Given the description of an element on the screen output the (x, y) to click on. 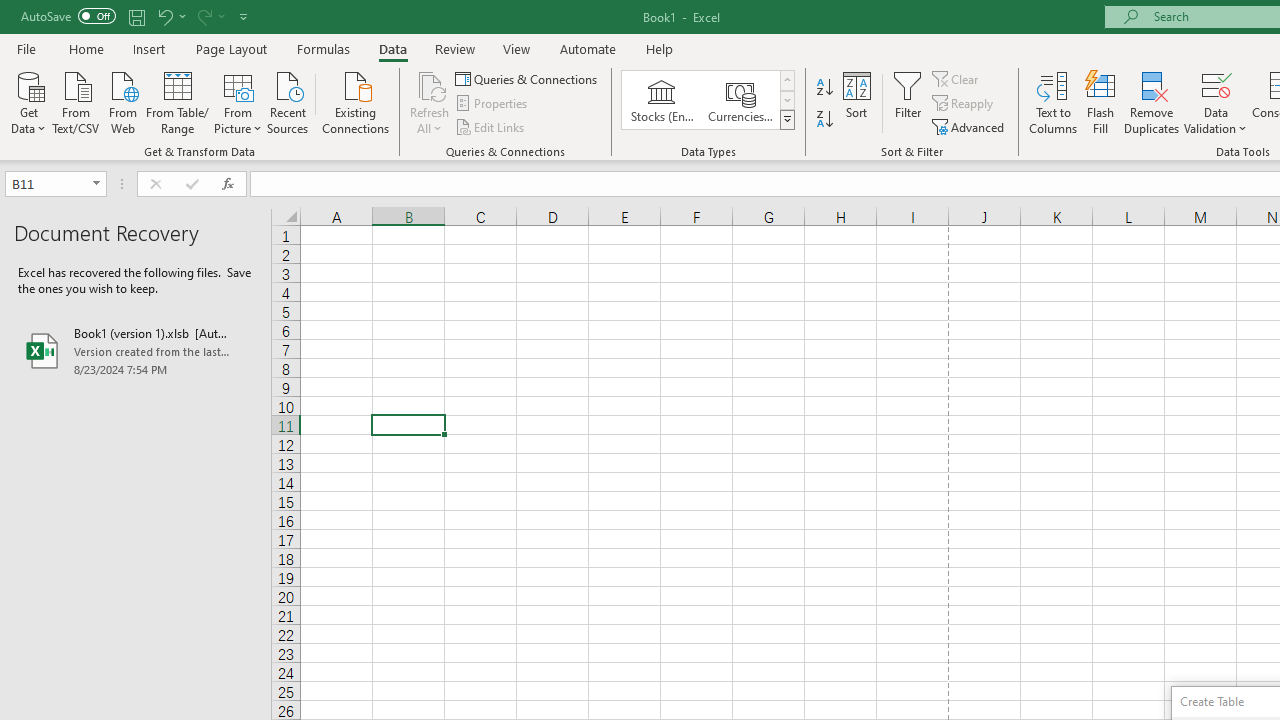
Existing Connections (355, 101)
AutomationID: ConvertToLinkedEntity (708, 99)
Text to Columns... (1053, 102)
Sort... (856, 102)
Data Types (786, 120)
Currencies (English) (740, 100)
Recent Sources (287, 101)
